Given the description of an element on the screen output the (x, y) to click on. 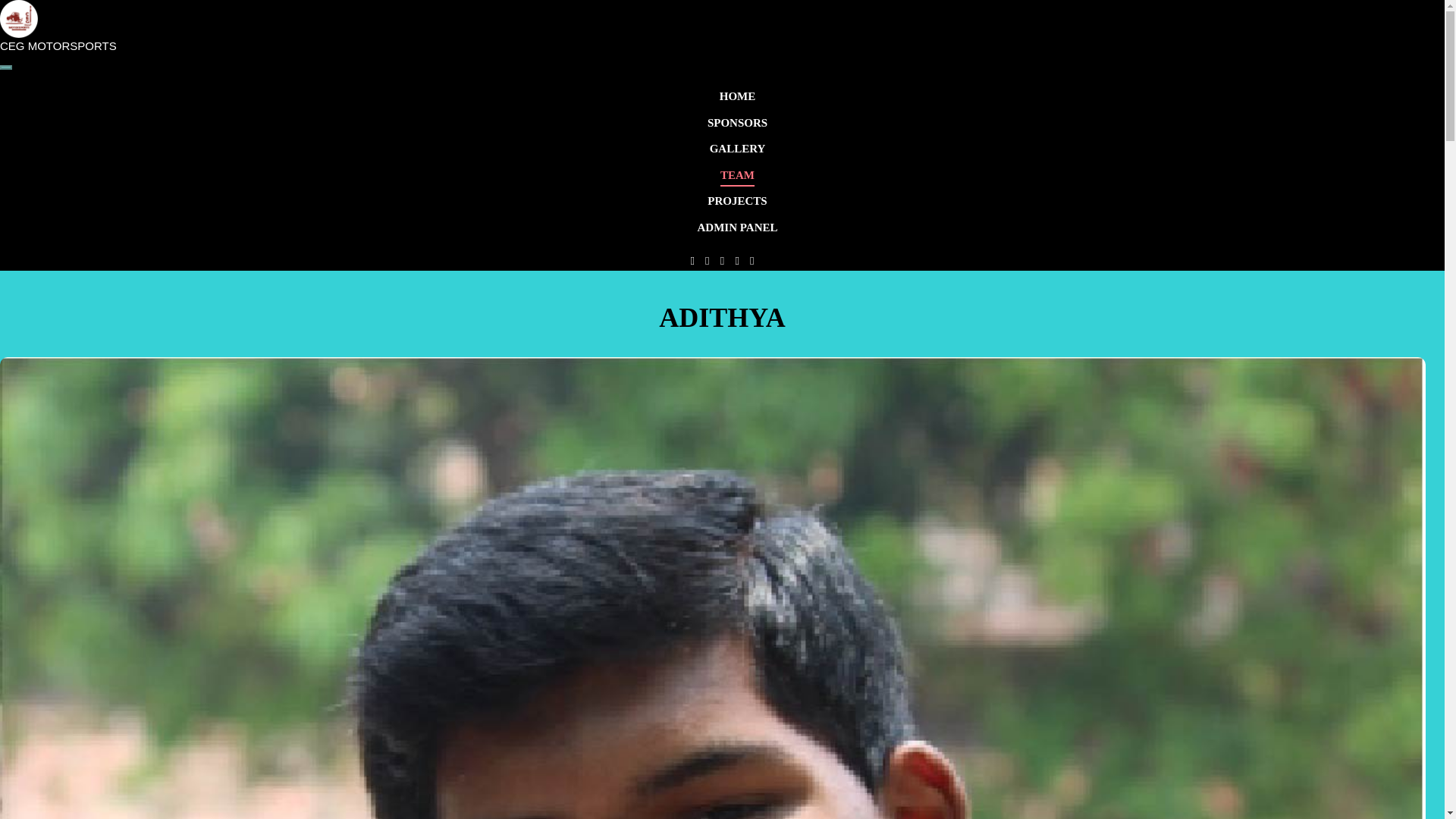
PROJECTS (737, 200)
SPONSORS (737, 122)
GALLERY (737, 148)
HOME (737, 96)
TEAM (737, 176)
ADMIN PANEL (737, 227)
